Given the description of an element on the screen output the (x, y) to click on. 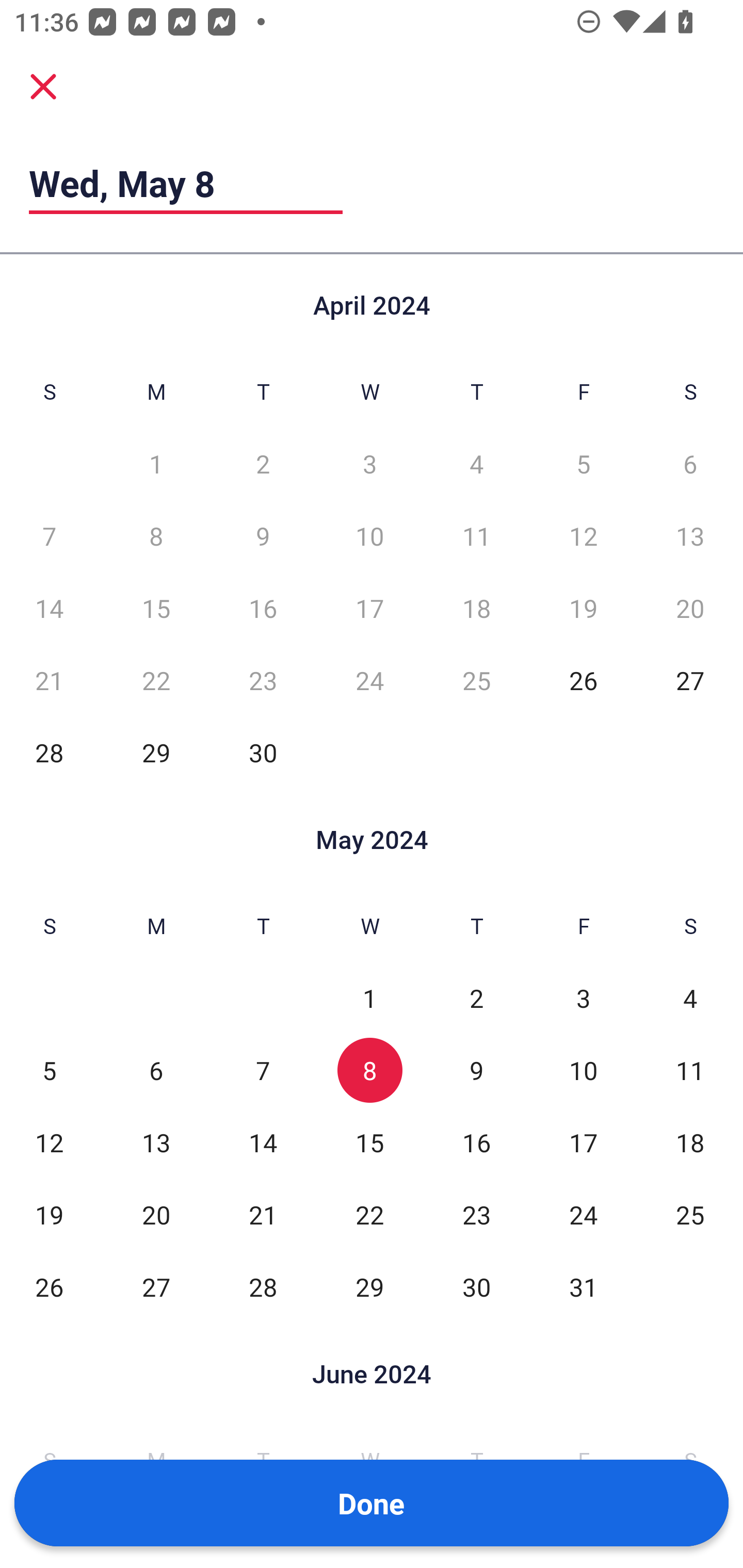
Cancel (43, 86)
Wed, May 8 (185, 182)
1 Mon, Apr 1, Not Selected (156, 464)
2 Tue, Apr 2, Not Selected (263, 464)
3 Wed, Apr 3, Not Selected (369, 464)
4 Thu, Apr 4, Not Selected (476, 464)
5 Fri, Apr 5, Not Selected (583, 464)
6 Sat, Apr 6, Not Selected (690, 464)
7 Sun, Apr 7, Not Selected (49, 536)
8 Mon, Apr 8, Not Selected (156, 536)
9 Tue, Apr 9, Not Selected (263, 536)
10 Wed, Apr 10, Not Selected (369, 536)
11 Thu, Apr 11, Not Selected (476, 536)
12 Fri, Apr 12, Not Selected (583, 536)
13 Sat, Apr 13, Not Selected (690, 536)
14 Sun, Apr 14, Not Selected (49, 608)
15 Mon, Apr 15, Not Selected (156, 608)
16 Tue, Apr 16, Not Selected (263, 608)
17 Wed, Apr 17, Not Selected (369, 608)
18 Thu, Apr 18, Not Selected (476, 608)
19 Fri, Apr 19, Not Selected (583, 608)
20 Sat, Apr 20, Not Selected (690, 608)
21 Sun, Apr 21, Not Selected (49, 680)
22 Mon, Apr 22, Not Selected (156, 680)
23 Tue, Apr 23, Not Selected (263, 680)
24 Wed, Apr 24, Not Selected (369, 680)
25 Thu, Apr 25, Not Selected (476, 680)
26 Fri, Apr 26, Not Selected (583, 680)
27 Sat, Apr 27, Not Selected (690, 680)
28 Sun, Apr 28, Not Selected (49, 752)
29 Mon, Apr 29, Not Selected (156, 752)
30 Tue, Apr 30, Not Selected (263, 752)
1 Wed, May 1, Not Selected (369, 997)
2 Thu, May 2, Not Selected (476, 997)
3 Fri, May 3, Not Selected (583, 997)
4 Sat, May 4, Not Selected (690, 997)
5 Sun, May 5, Not Selected (49, 1070)
6 Mon, May 6, Not Selected (156, 1070)
7 Tue, May 7, Not Selected (263, 1070)
8 Wed, May 8, Selected (369, 1070)
9 Thu, May 9, Not Selected (476, 1070)
10 Fri, May 10, Not Selected (583, 1070)
11 Sat, May 11, Not Selected (690, 1070)
12 Sun, May 12, Not Selected (49, 1143)
13 Mon, May 13, Not Selected (156, 1143)
14 Tue, May 14, Not Selected (263, 1143)
15 Wed, May 15, Not Selected (369, 1143)
16 Thu, May 16, Not Selected (476, 1143)
17 Fri, May 17, Not Selected (583, 1143)
18 Sat, May 18, Not Selected (690, 1143)
